Given the description of an element on the screen output the (x, y) to click on. 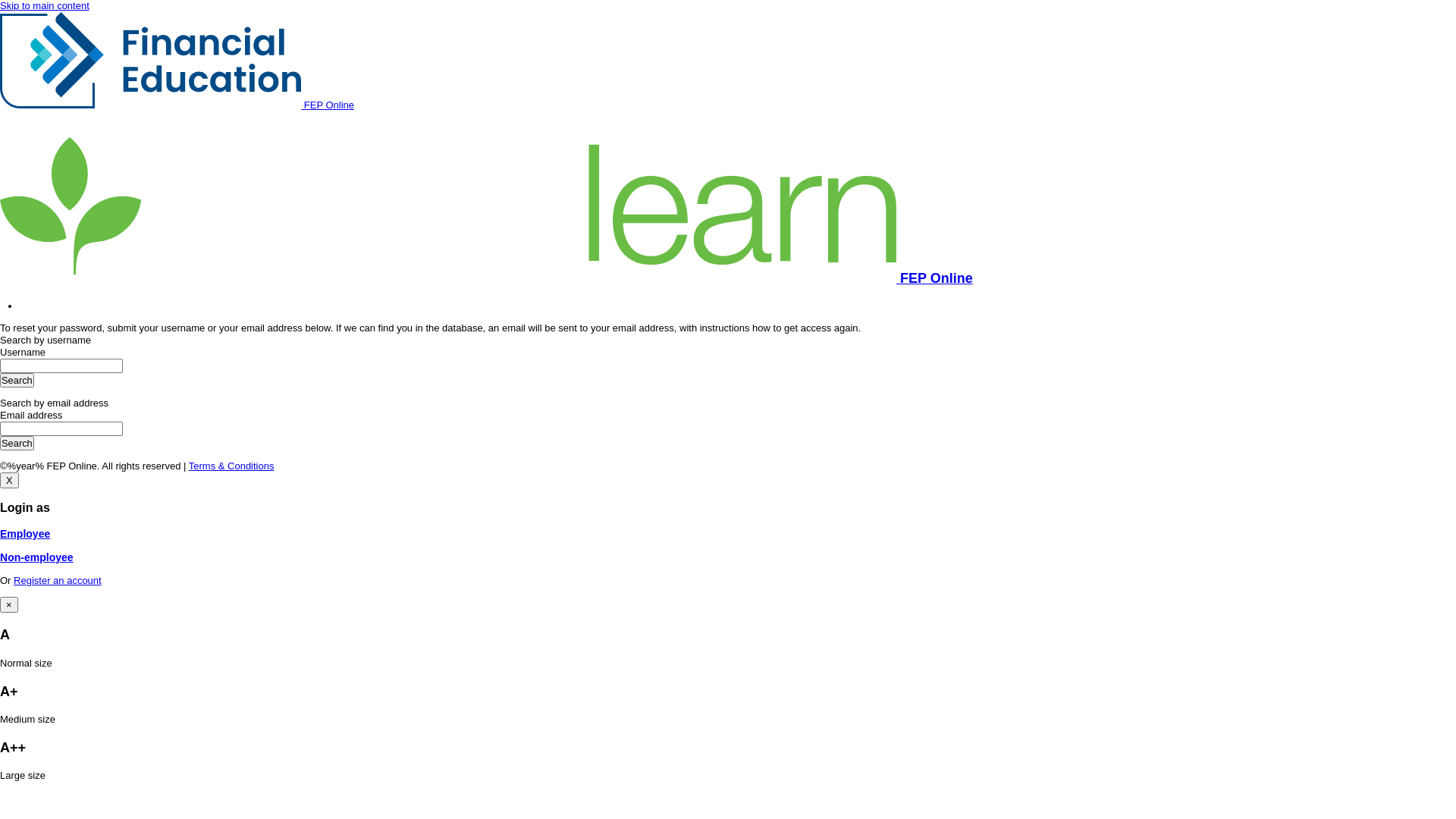
FEP Online Element type: text (177, 104)
FEP Online Element type: text (486, 277)
Terms & Conditions Element type: text (231, 465)
X Element type: text (9, 480)
Search Element type: text (17, 443)
Search Element type: text (17, 380)
Register an account Element type: text (57, 580)
Skip to main content Element type: text (44, 5)
